Given the description of an element on the screen output the (x, y) to click on. 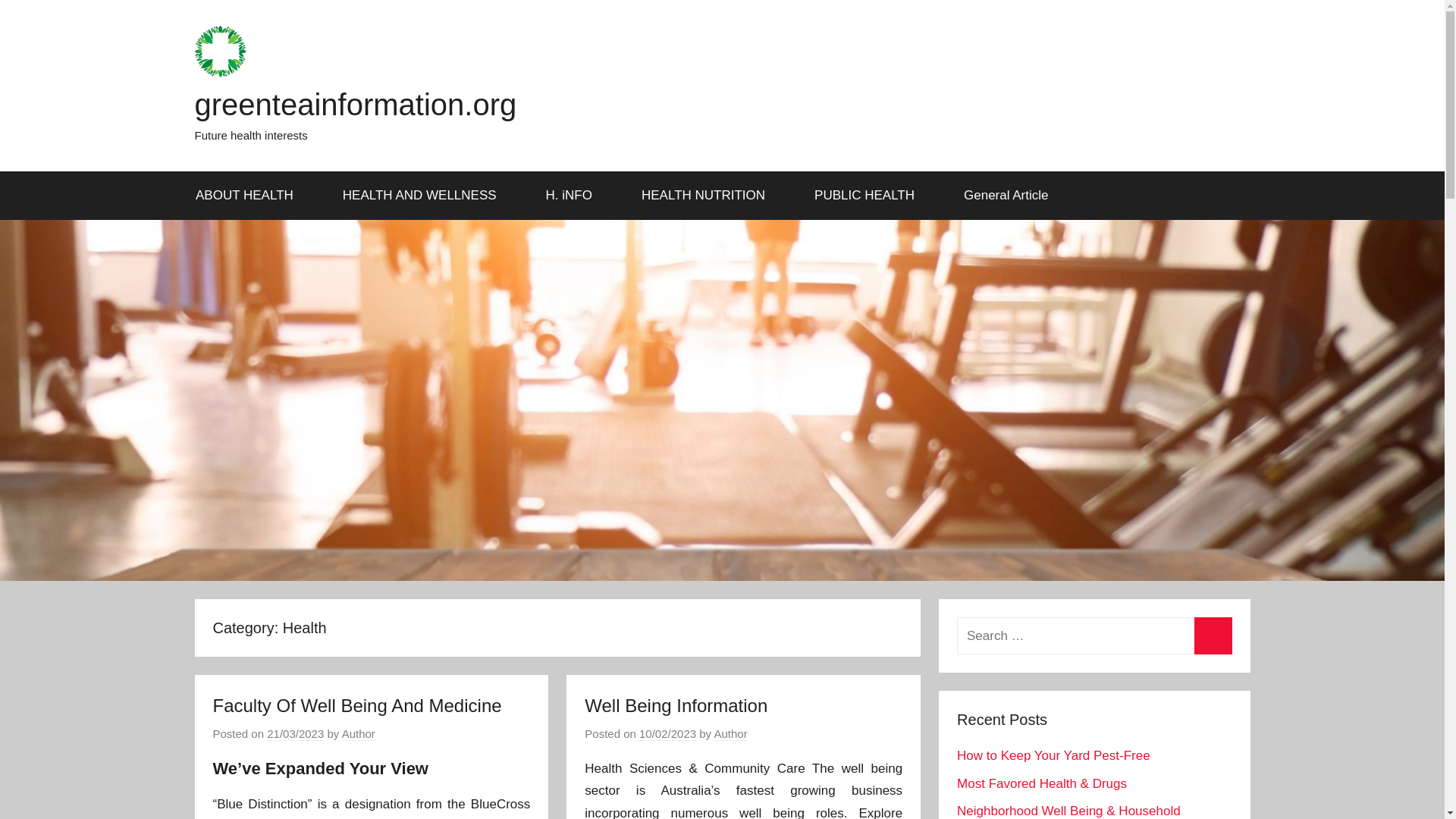
Search for: (1093, 635)
greenteainformation.org (354, 104)
HEALTH AND WELLNESS (424, 195)
Faculty Of Well Being And Medicine (356, 705)
H. iNFO (573, 195)
HEALTH NUTRITION (707, 195)
ABOUT HEALTH (249, 195)
General Article (1006, 195)
Author (358, 734)
View all posts by Author (358, 734)
PUBLIC HEALTH (869, 195)
View all posts by Author (729, 734)
